Given the description of an element on the screen output the (x, y) to click on. 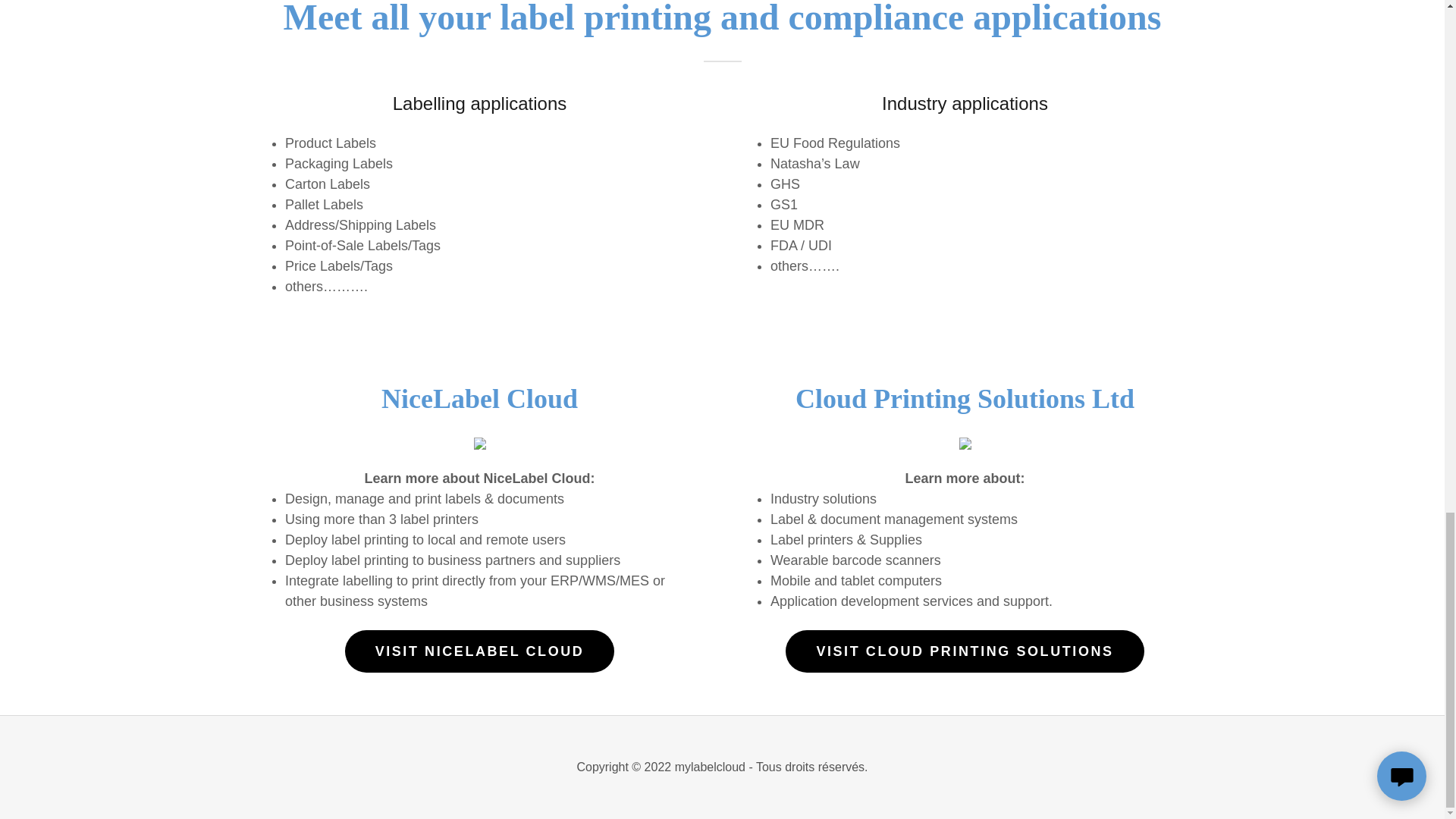
VISIT CLOUD PRINTING SOLUTIONS (964, 650)
VISIT NICELABEL CLOUD (479, 650)
